Given the description of an element on the screen output the (x, y) to click on. 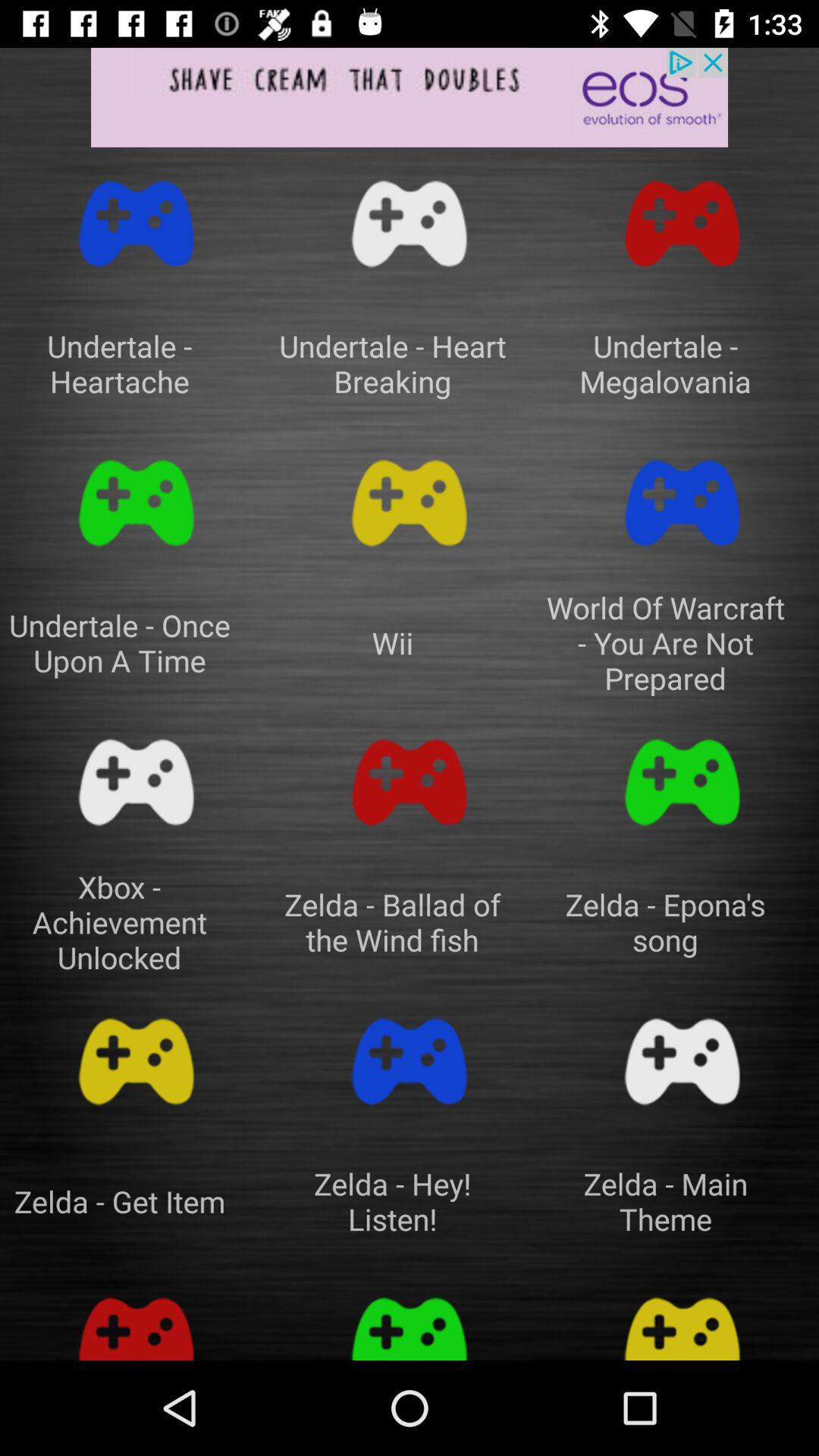
option (409, 782)
